Given the description of an element on the screen output the (x, y) to click on. 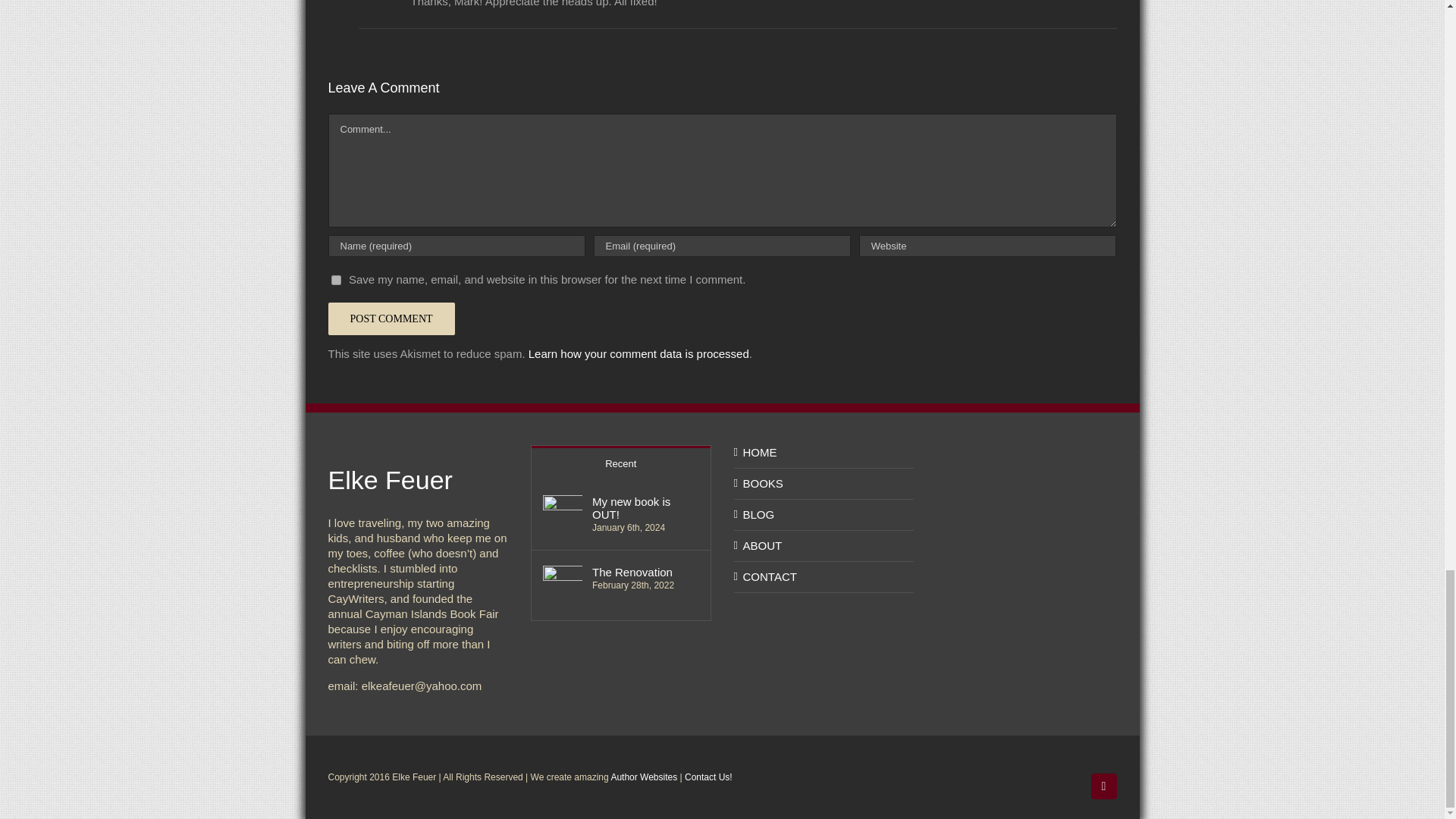
Facebook (1103, 786)
yes (335, 280)
Post Comment (390, 318)
